Given the description of an element on the screen output the (x, y) to click on. 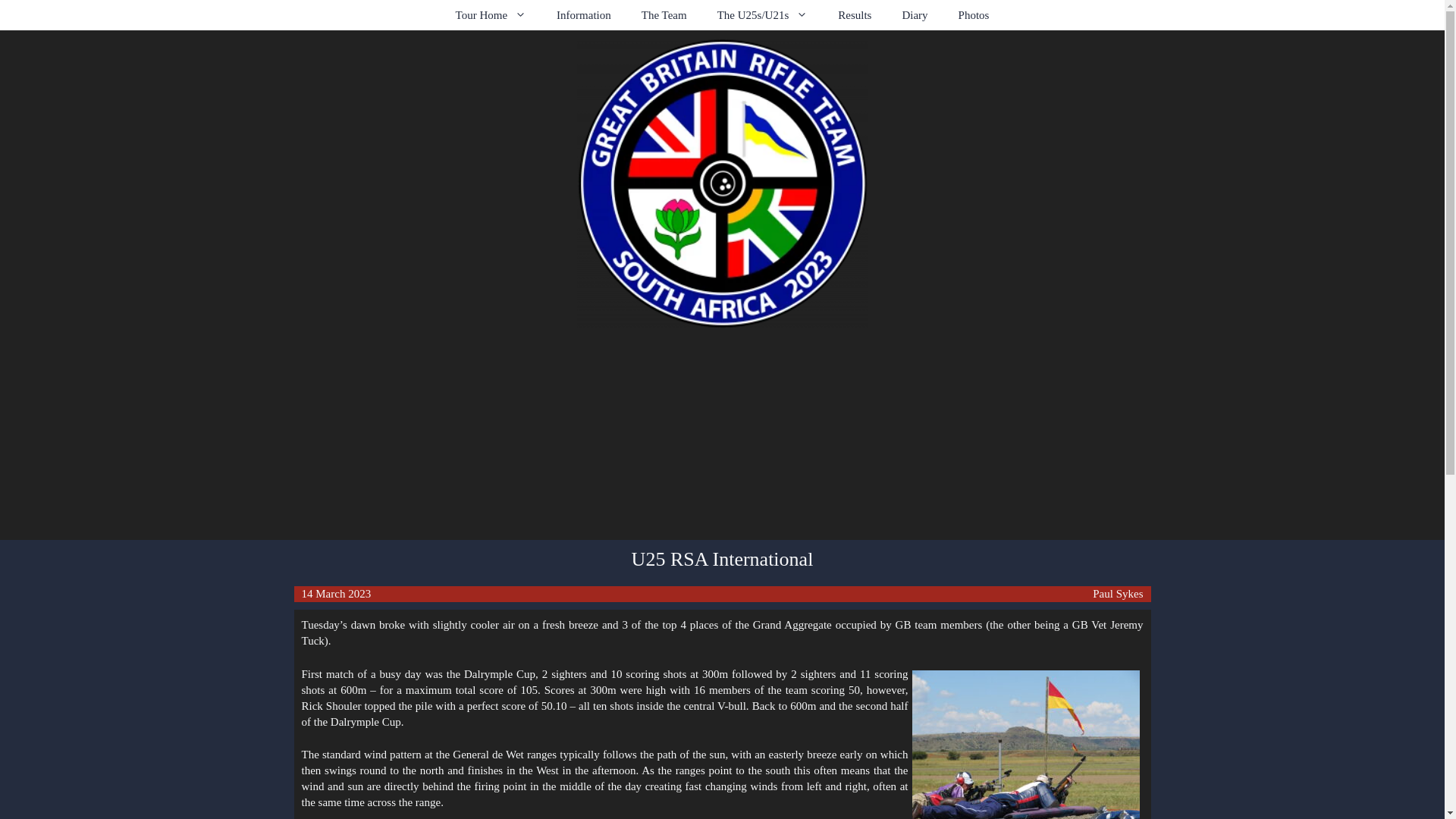
sa2023-logo-high (721, 183)
230314-p-027 (1024, 744)
The Team (663, 15)
Photos (973, 15)
Information (583, 15)
Results (854, 15)
Tour Home (491, 15)
Diary (914, 15)
